Given the description of an element on the screen output the (x, y) to click on. 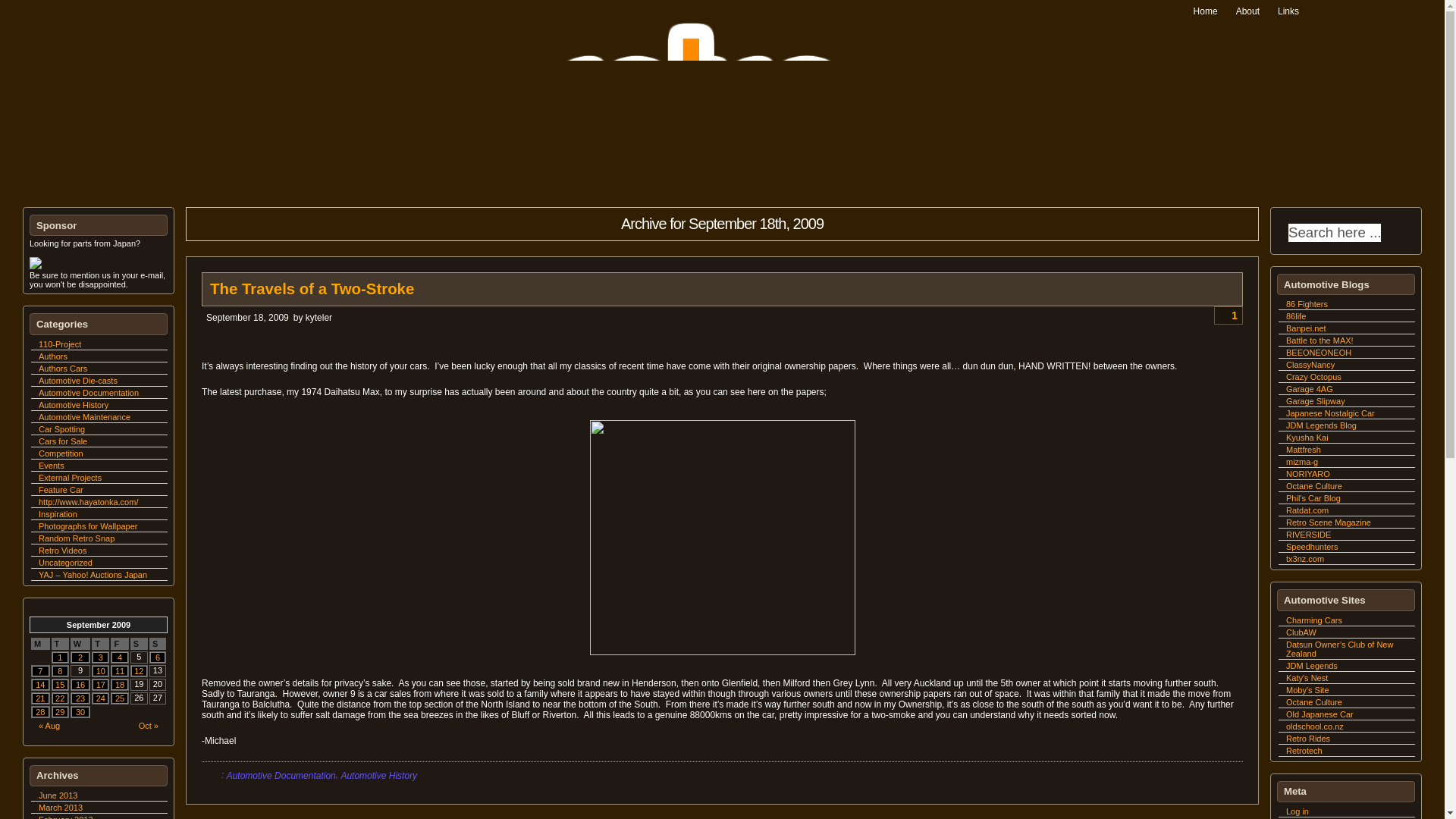
Events (51, 465)
View all posts filed under Automotive Documentation (88, 392)
View all posts filed under Automotive Die-casts (78, 379)
Automotive Documentation (281, 775)
kyteler (318, 317)
kyteler's C110 Restoration (60, 343)
Automotive History (73, 404)
Feature Car (60, 489)
Automotive Die-casts (78, 379)
View all posts filed under Automotive History (73, 404)
Automotive Documentation (88, 392)
Random Retro Snap (77, 537)
retro-classics - automotive blog (722, 191)
Car Spotting (61, 429)
View all posts filed under Authors (52, 356)
